Given the description of an element on the screen output the (x, y) to click on. 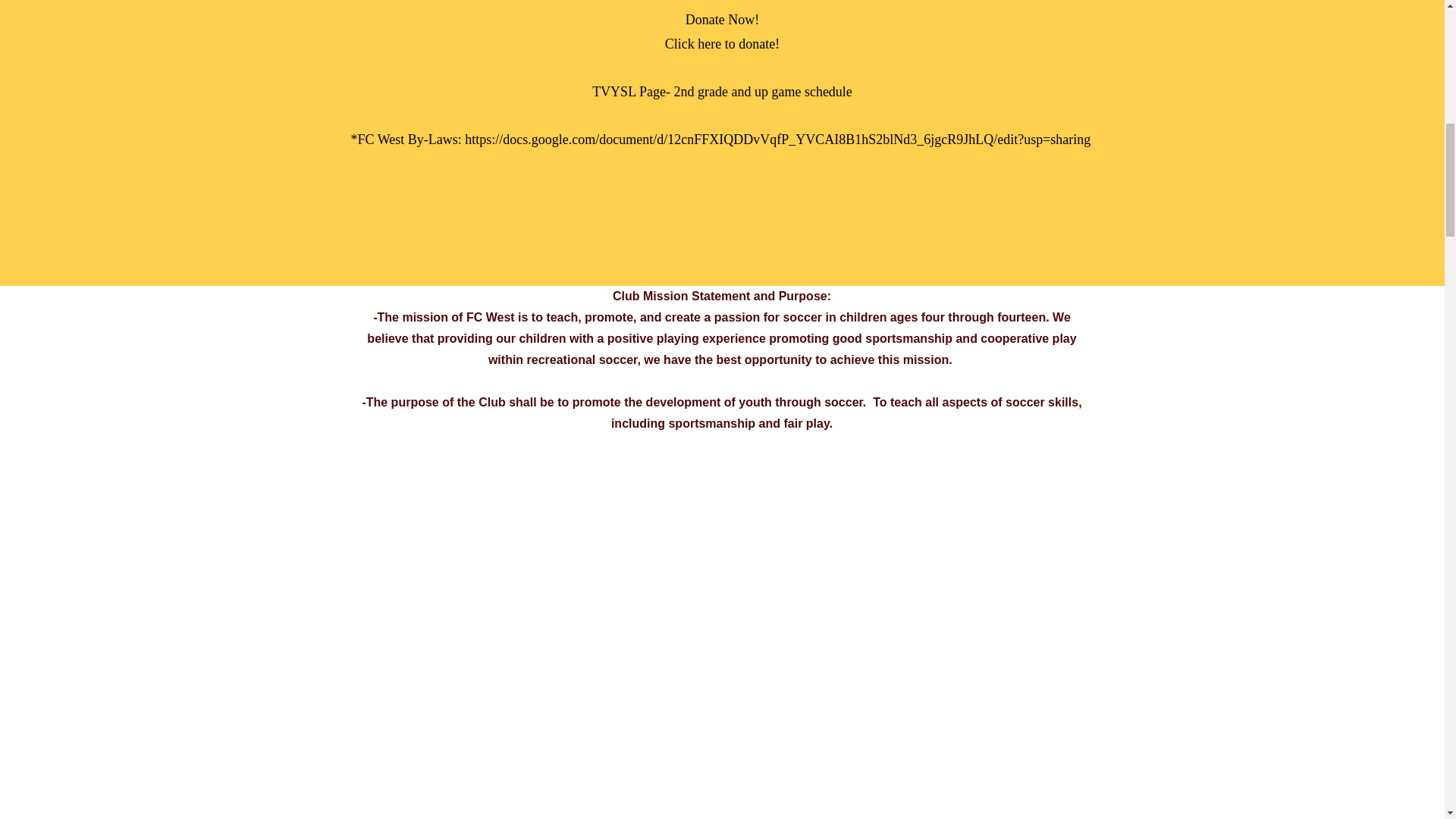
Donate Now! (721, 19)
Click here to donate! (721, 43)
TVYSL Page- 2nd grade and up game schedule (721, 91)
FC West By-Laws: (411, 139)
